Given the description of an element on the screen output the (x, y) to click on. 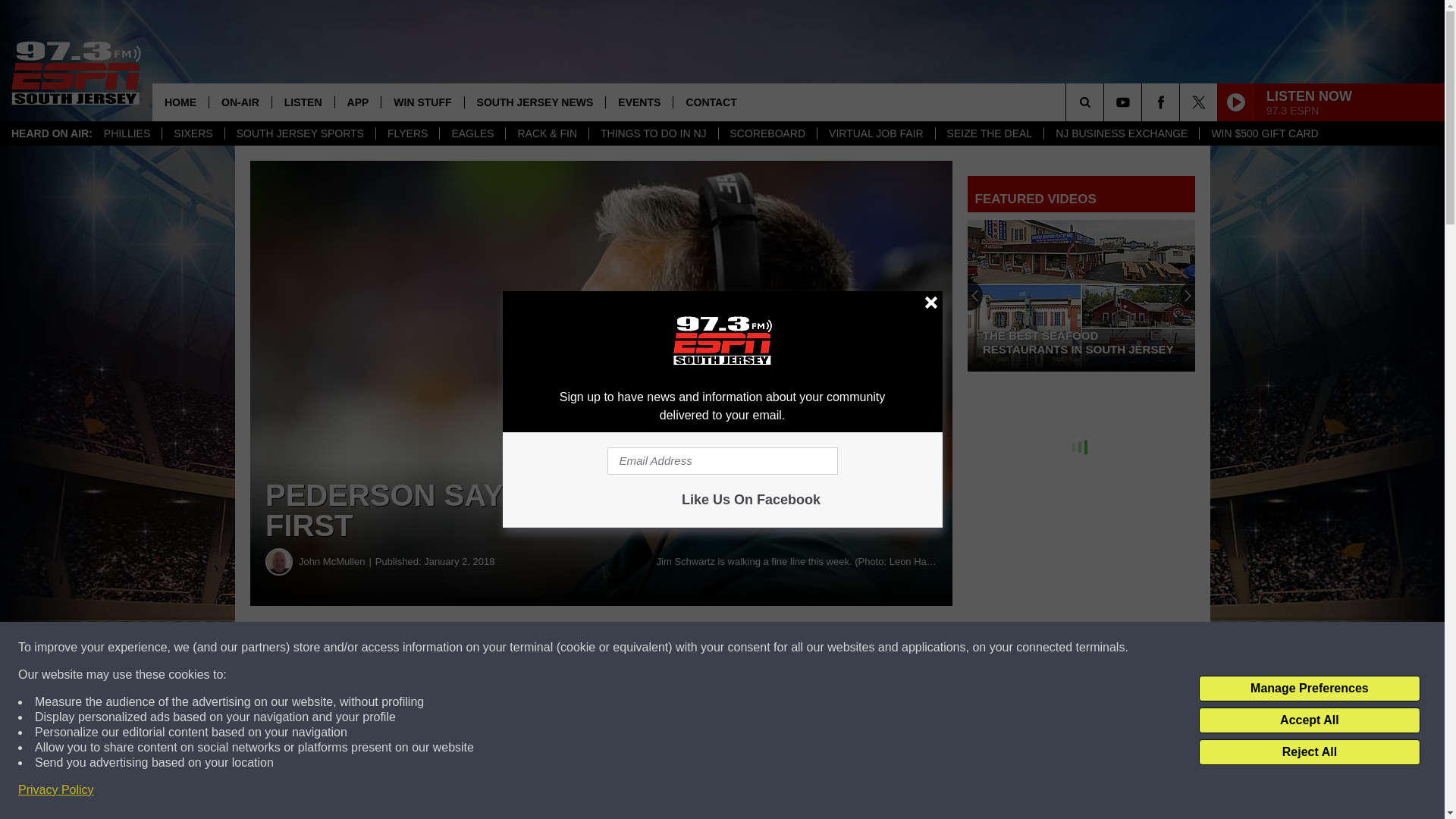
SOUTH JERSEY SPORTS (299, 133)
THINGS TO DO IN NJ (652, 133)
PHILLIES (127, 133)
ON-AIR (239, 102)
FLYERS (407, 133)
HOME (180, 102)
NJ BUSINESS EXCHANGE (1120, 133)
SEARCH (1106, 102)
Reject All (1309, 751)
Manage Preferences (1309, 688)
Share on Twitter (741, 647)
LISTEN (302, 102)
SIXERS (192, 133)
Accept All (1309, 720)
EAGLES (472, 133)
